Given the description of an element on the screen output the (x, y) to click on. 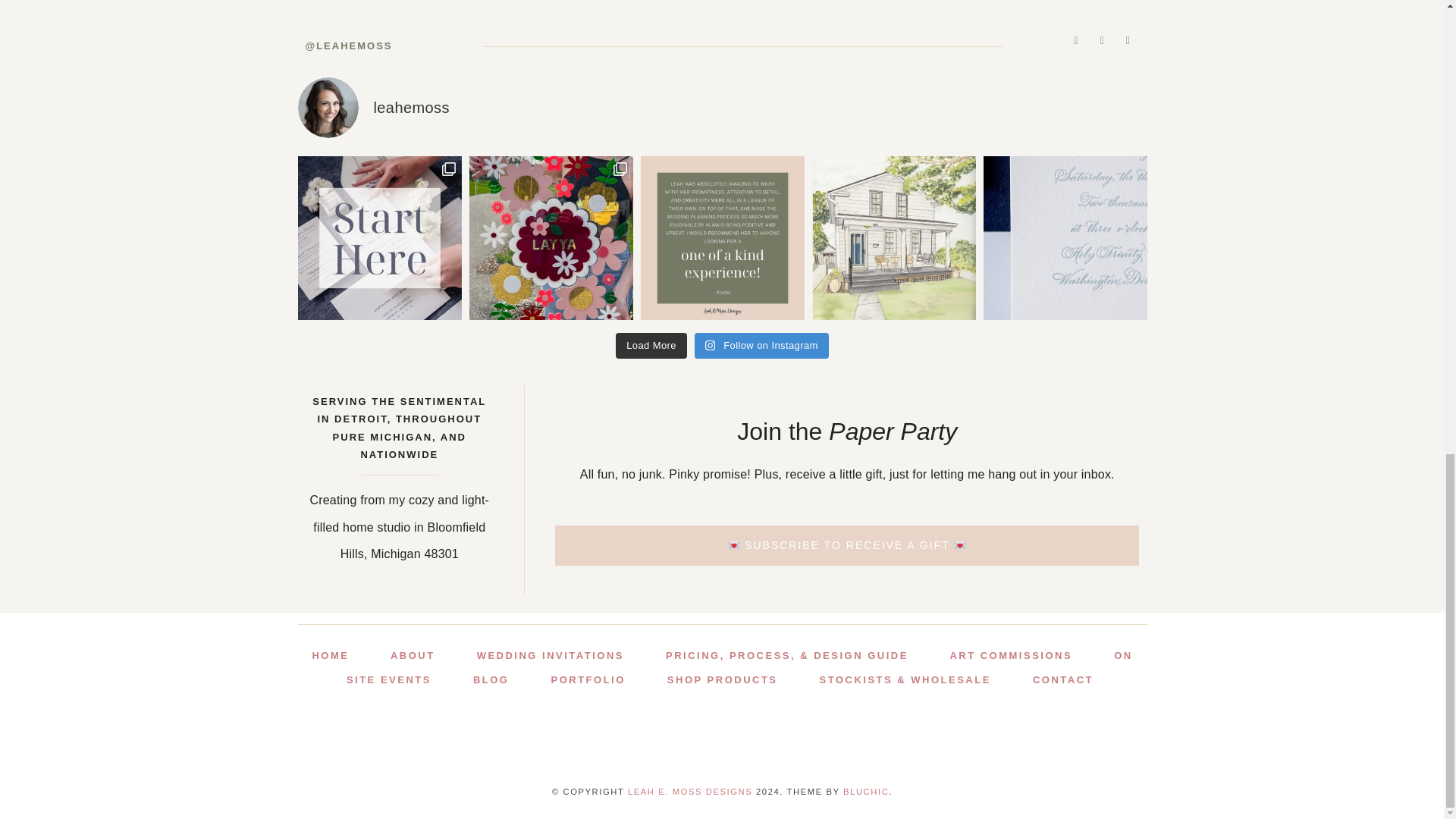
ABOUT (412, 655)
leahemoss (722, 107)
HOME (330, 655)
Follow on Instagram (761, 345)
Load More (651, 345)
SUBSCRIBE TO RECEIVE A GIFT (846, 545)
